Given the description of an element on the screen output the (x, y) to click on. 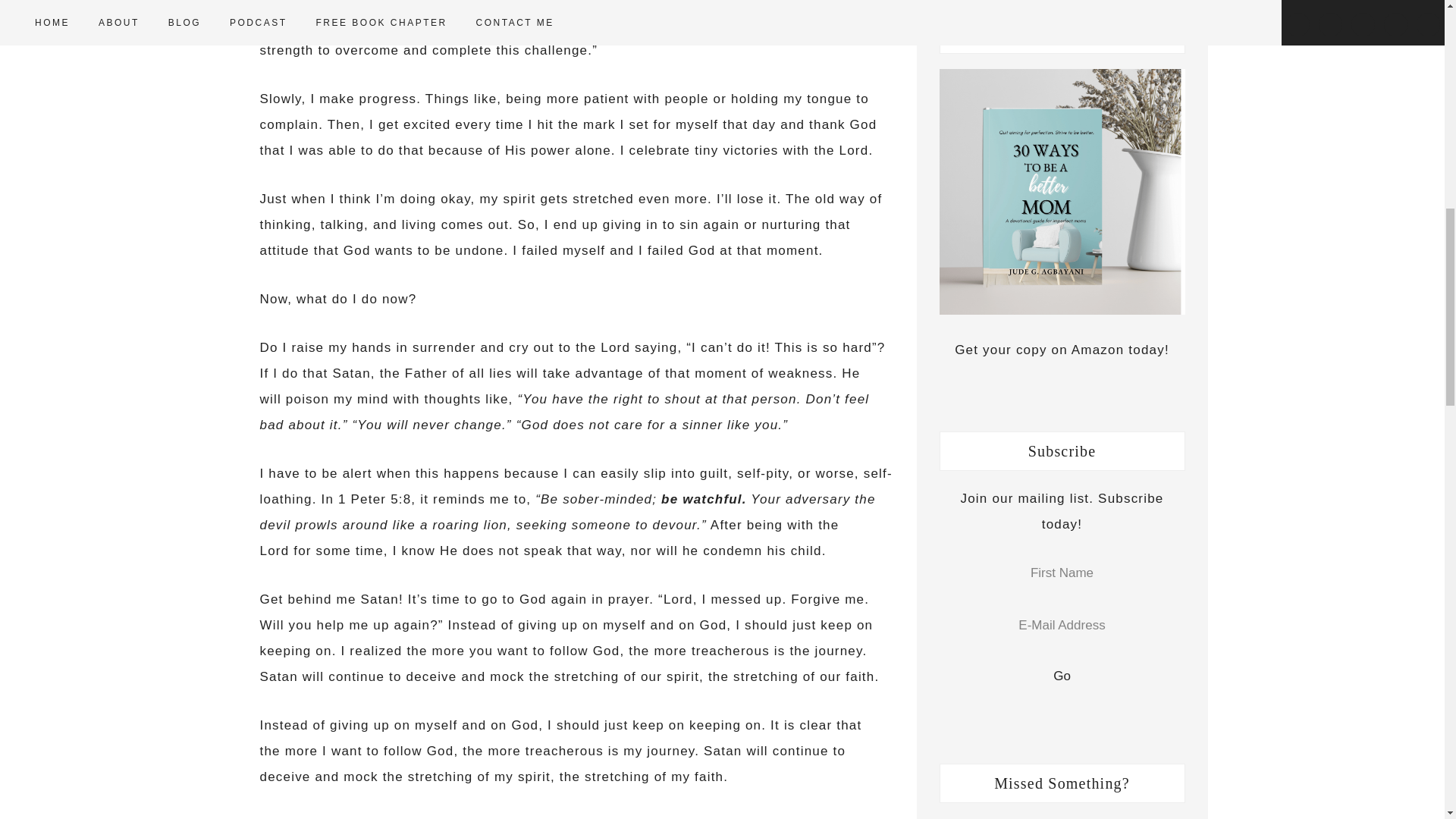
Go (1061, 676)
30 Ways to Be a Better Mom Devotional Book  (1062, 191)
Go (1061, 676)
